Given the description of an element on the screen output the (x, y) to click on. 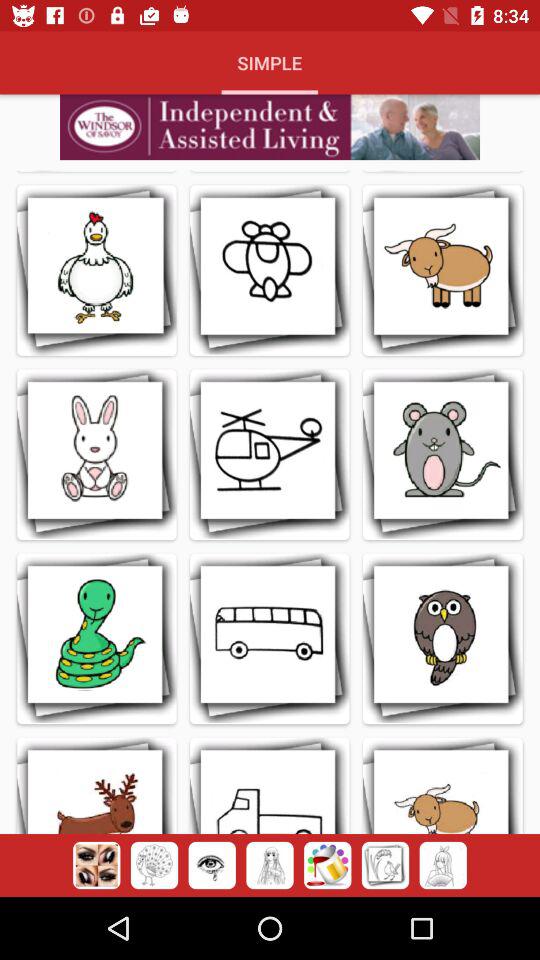
tap the second image in the fourth row (269, 786)
select the fourth image which is above the navigation bar (269, 865)
select the helicopter (269, 453)
select the last image in the first row (442, 270)
